Given the description of an element on the screen output the (x, y) to click on. 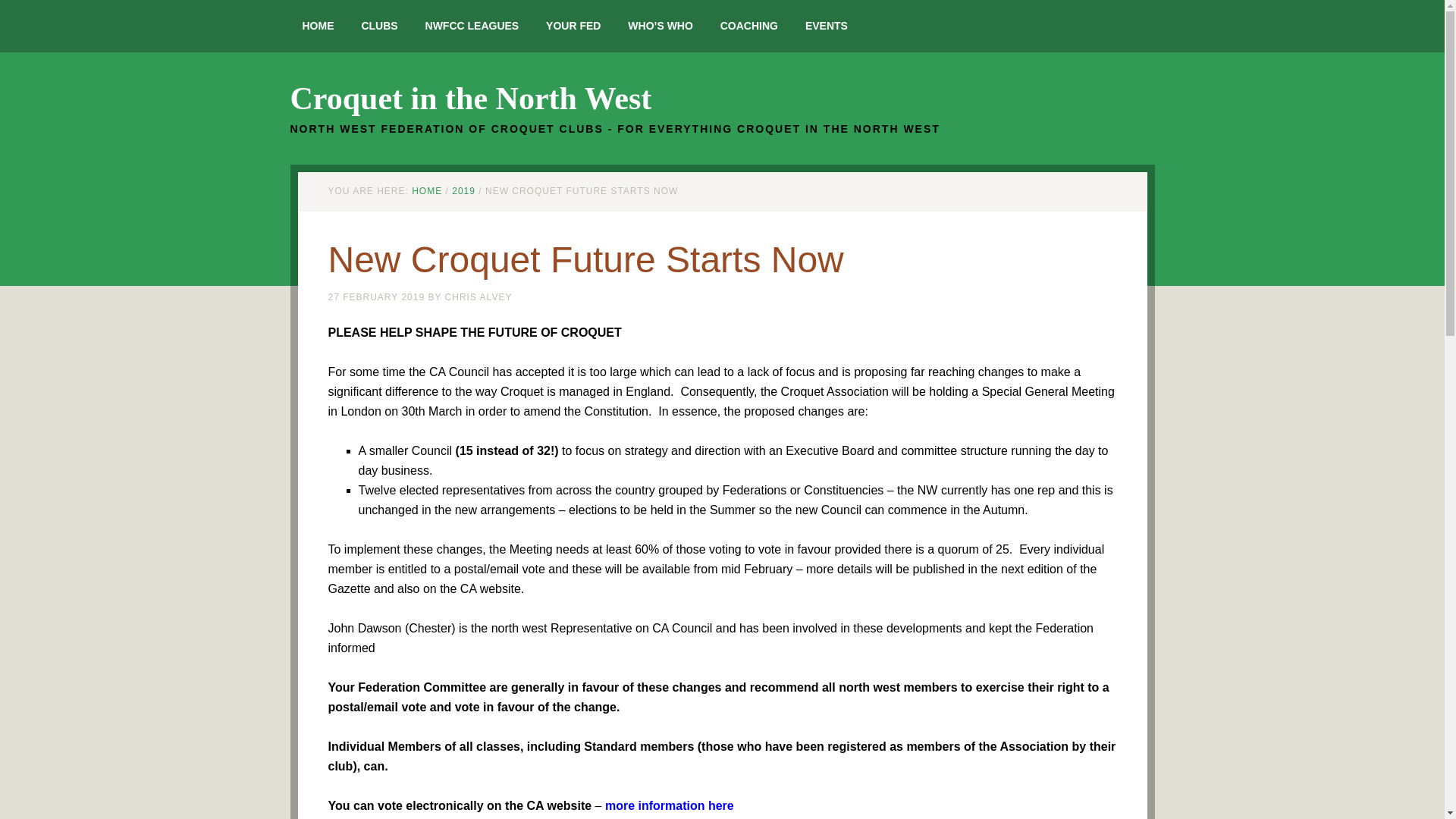
CHRIS ALVEY (478, 296)
Link to Online Voting Application (669, 805)
HOME (427, 190)
HOME (317, 26)
NWFCC LEAGUES (472, 26)
YOUR FED (573, 26)
CLUBS (379, 26)
COACHING (748, 26)
2019 (463, 190)
Croquet in the North West (469, 98)
EVENTS (826, 26)
more information here (669, 805)
